Given the description of an element on the screen output the (x, y) to click on. 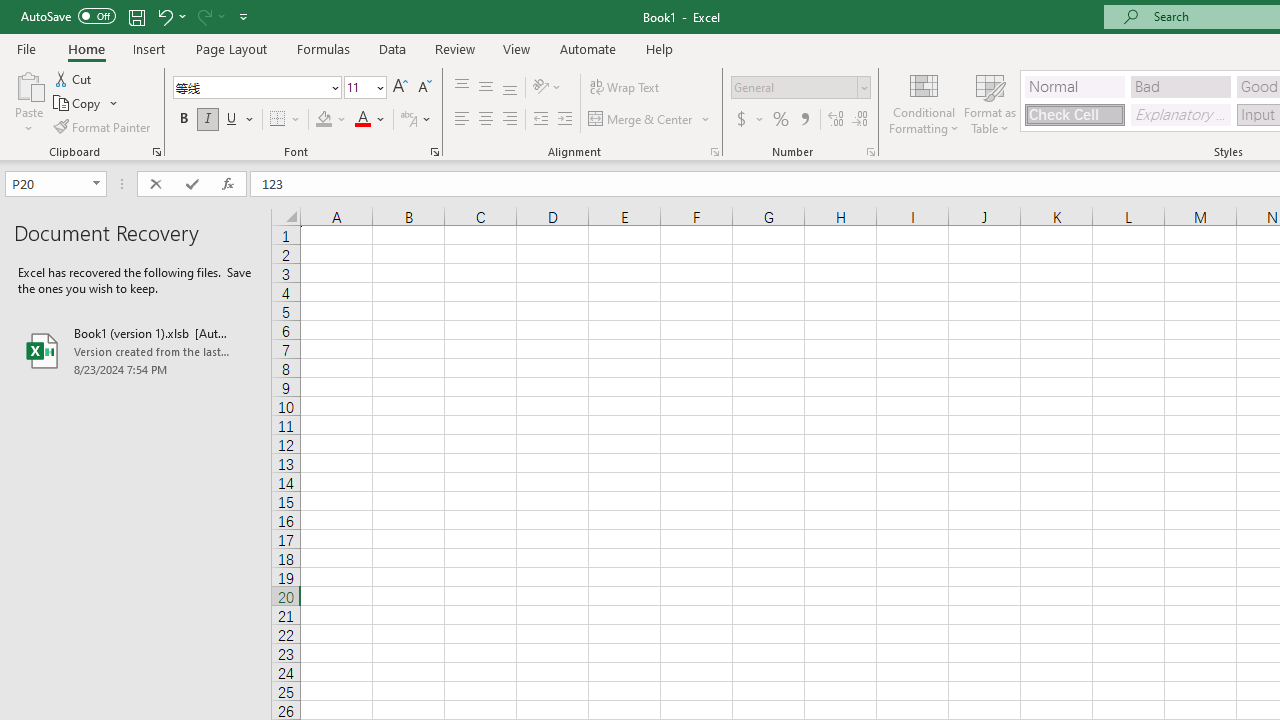
Home (86, 48)
Underline (232, 119)
Show Phonetic Field (408, 119)
Orientation (547, 87)
Format Cell Alignment (714, 151)
Borders (285, 119)
Center (485, 119)
View (517, 48)
Font (250, 87)
Font (256, 87)
Decrease Decimal (859, 119)
Format as Table (990, 102)
